Given the description of an element on the screen output the (x, y) to click on. 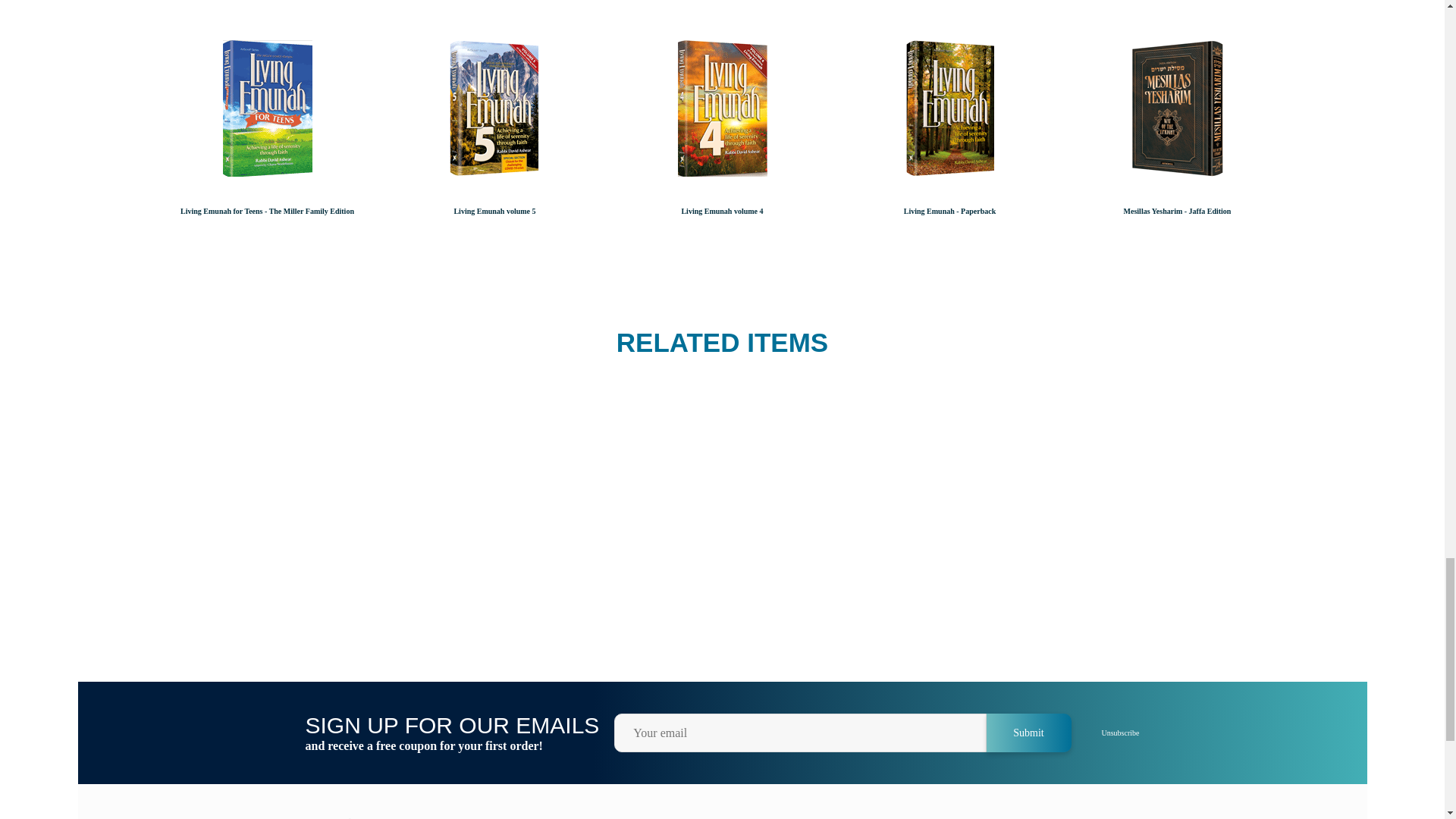
Living Emunah for Teens - The Miller Family Edition (266, 131)
Mesillas Yesharim - Jaffa Edition (1176, 131)
Living Emunah - Paperback (949, 131)
Submit (1027, 732)
Living Emunah volume 4 (721, 131)
Living Emunah volume 5 (493, 131)
